Given the description of an element on the screen output the (x, y) to click on. 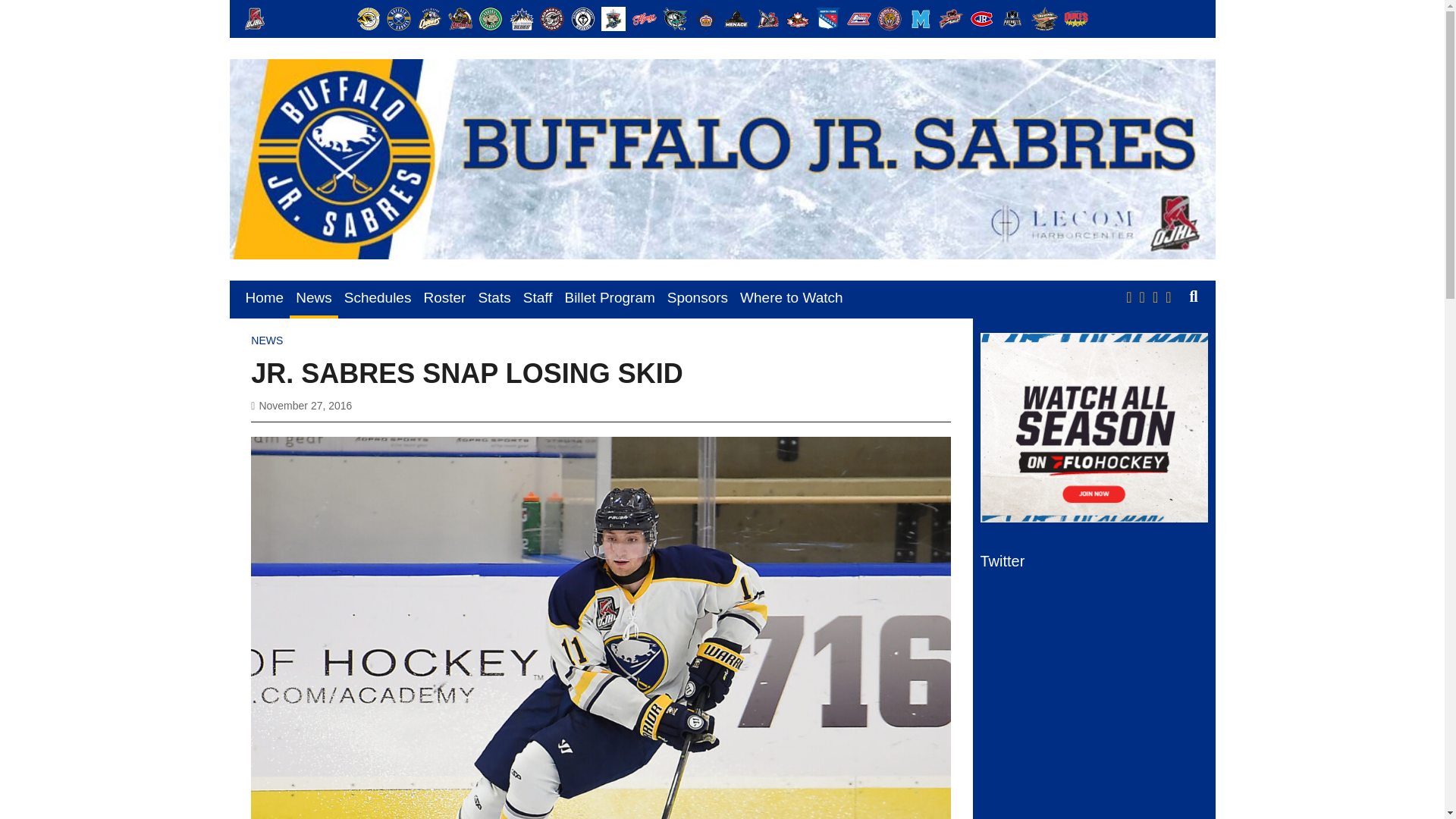
Leamington Flyers (644, 18)
OJHL (254, 18)
Caledon Admirals (460, 18)
Buffalo Jr. Sabres (398, 18)
King Rebellion (613, 18)
Cobourg Cougars (490, 18)
Burlington Cougars (430, 18)
Haliburton County Huskies (582, 18)
Georgetown Raiders (552, 18)
Collingwood Blues (521, 18)
Lindsay Muskies  (674, 18)
Aurora Tigers (368, 18)
